Given the description of an element on the screen output the (x, y) to click on. 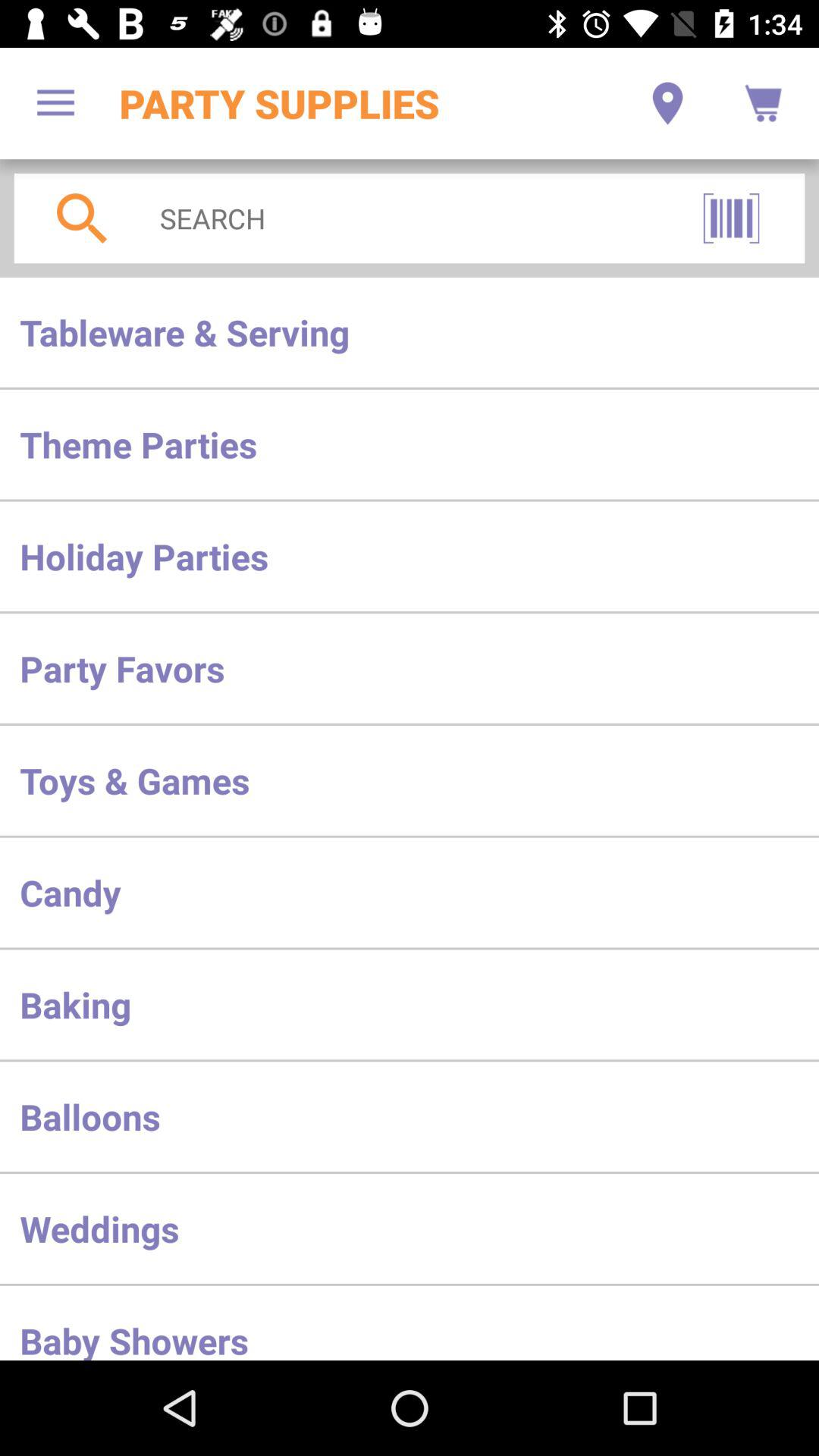
scroll until the party favors (409, 668)
